Given the description of an element on the screen output the (x, y) to click on. 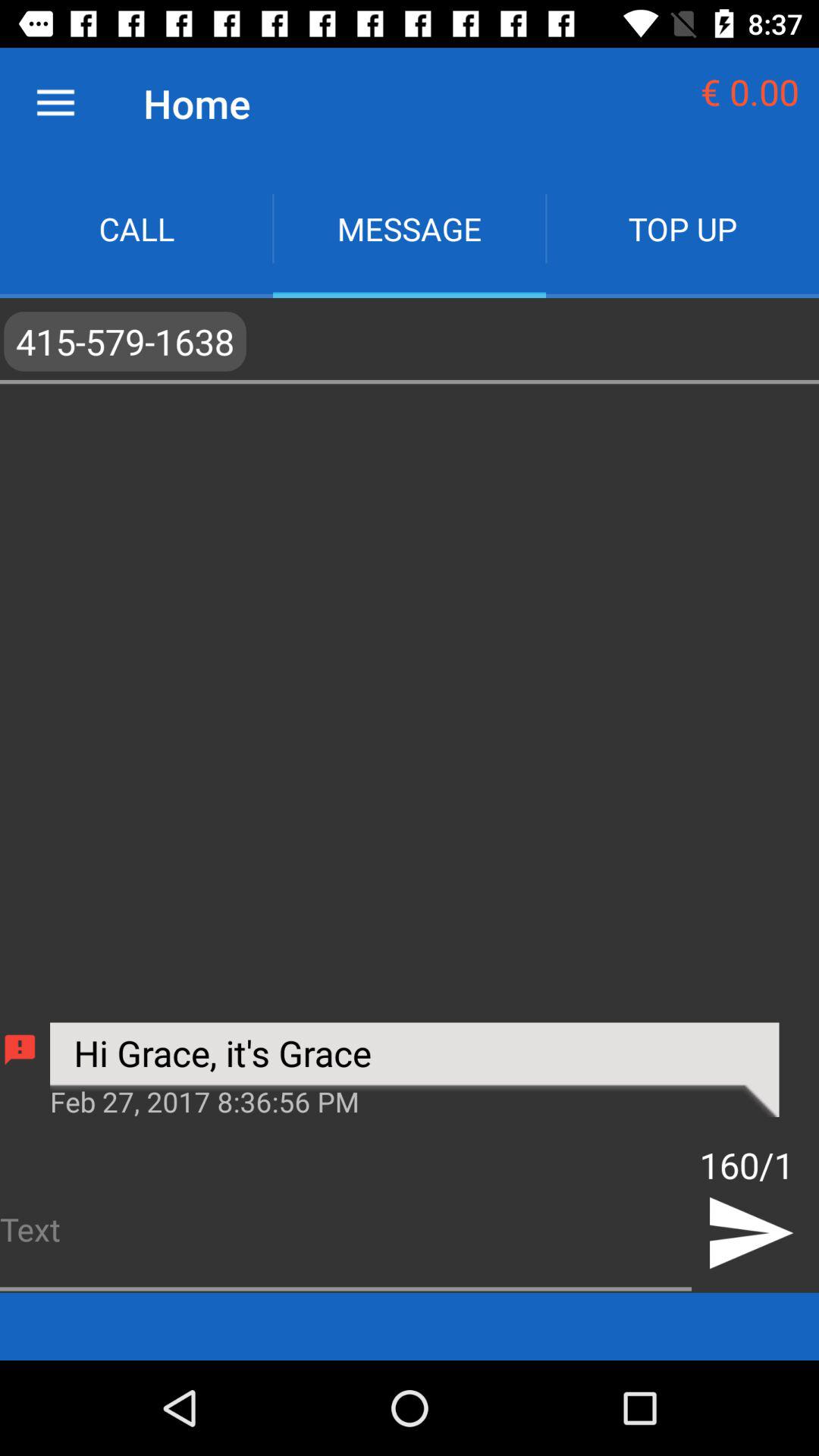
swipe to call icon (136, 228)
